Given the description of an element on the screen output the (x, y) to click on. 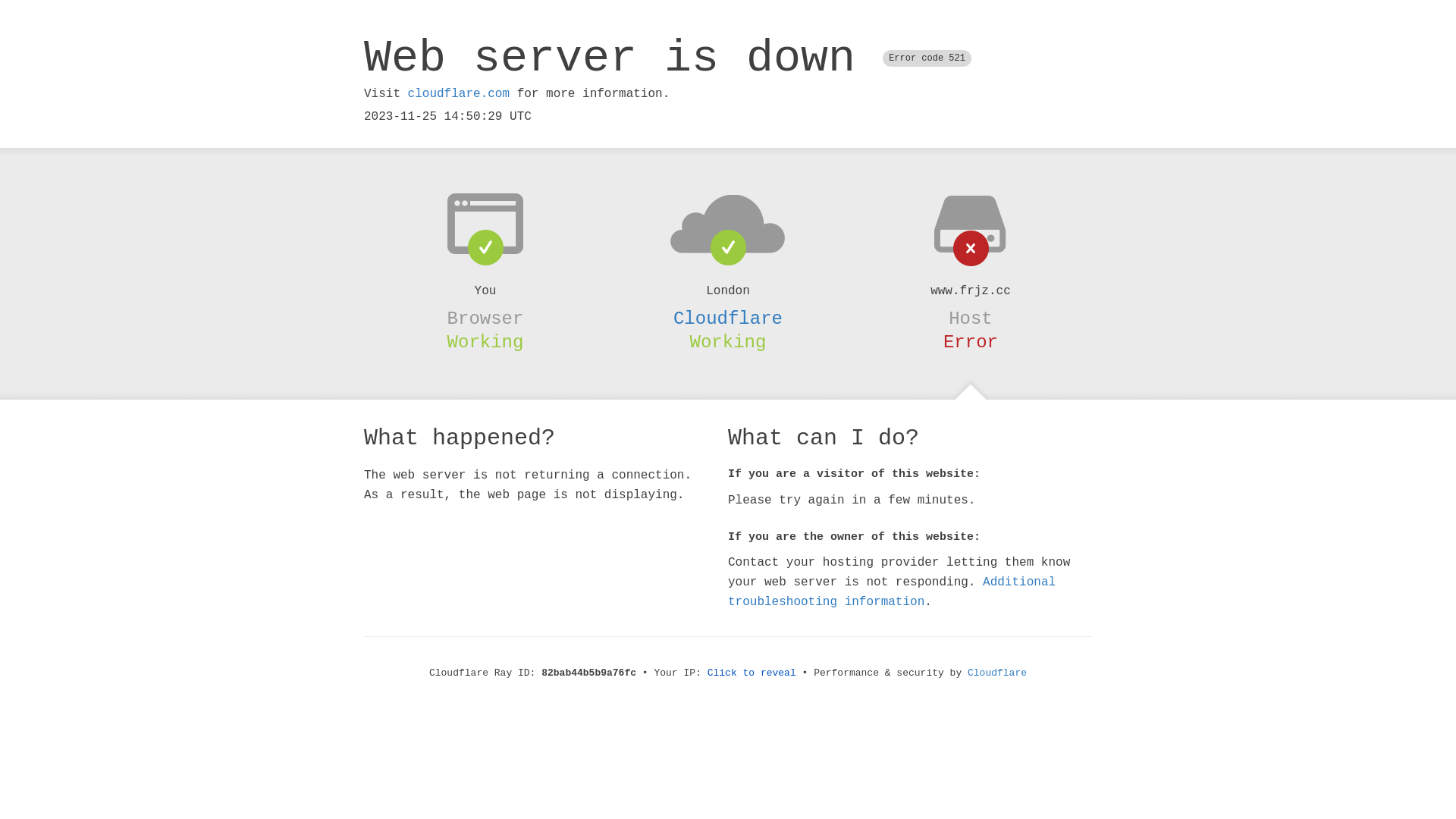
Additional troubleshooting information Element type: text (891, 591)
cloudflare.com Element type: text (458, 93)
Click to reveal Element type: text (751, 672)
Cloudflare Element type: text (996, 672)
Cloudflare Element type: text (727, 318)
